Given the description of an element on the screen output the (x, y) to click on. 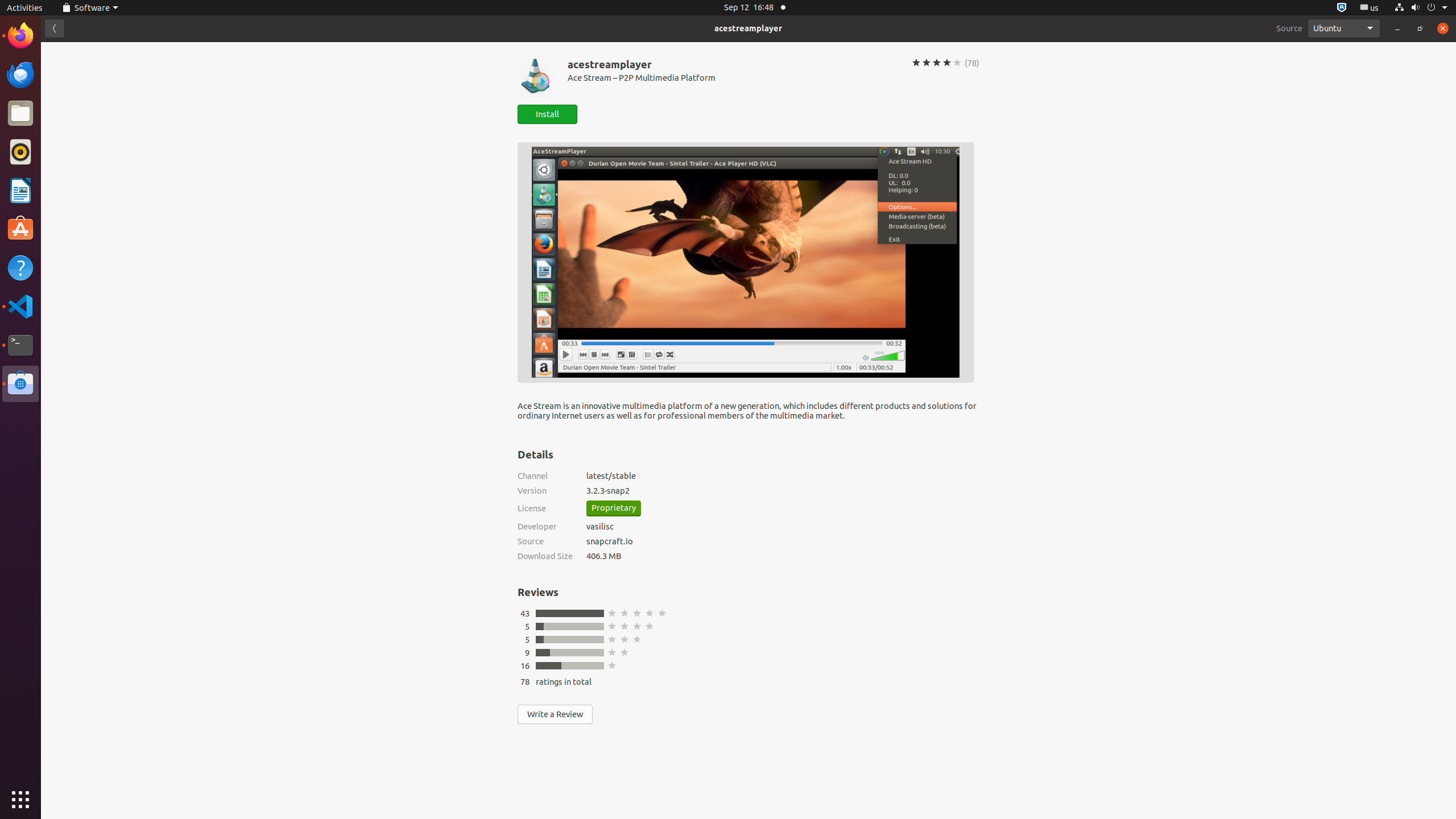
Trash Element type: label (75, 108)
78 Element type: label (524, 681)
Software Element type: menu (89, 7)
